Given the description of an element on the screen output the (x, y) to click on. 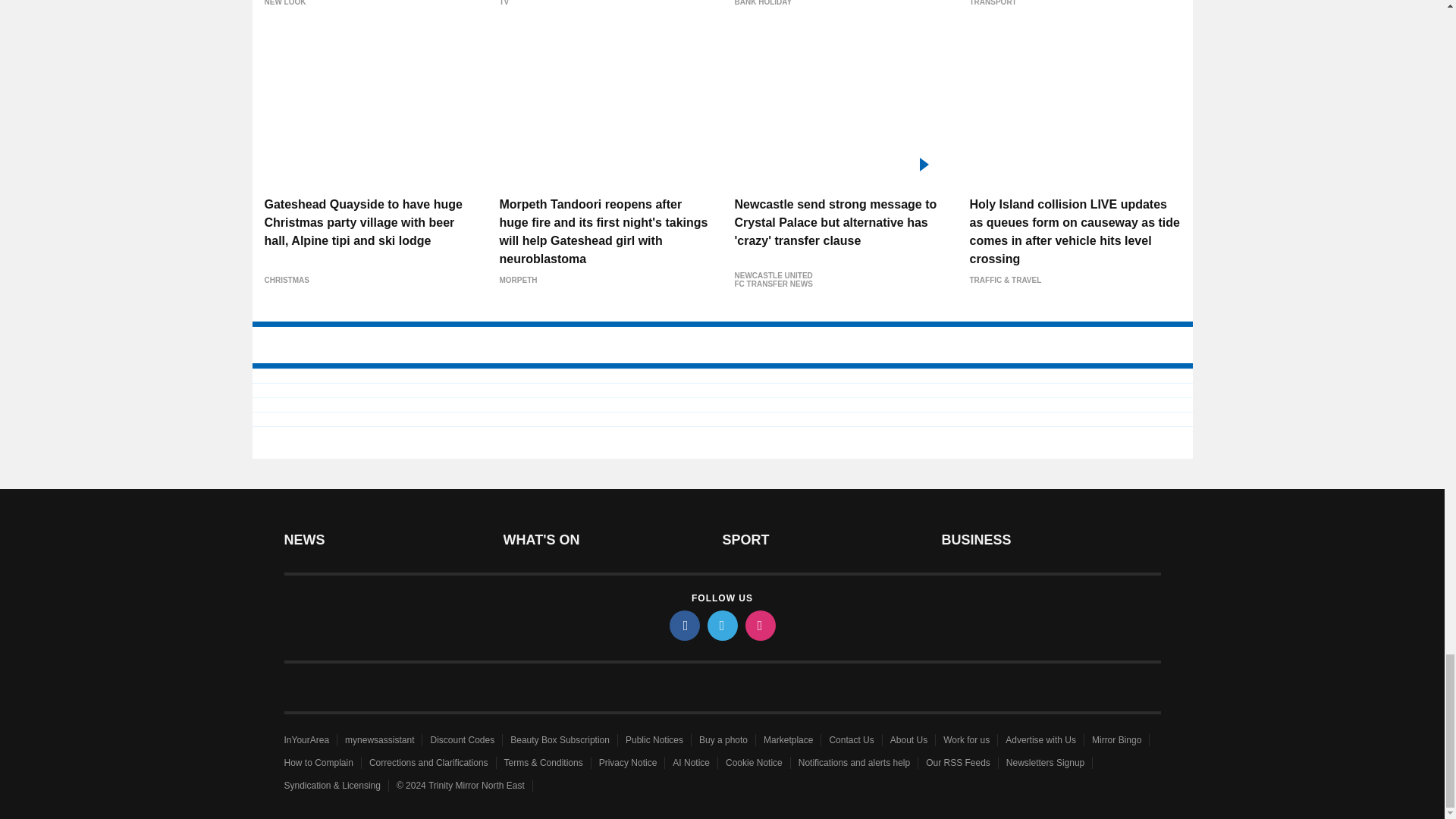
twitter (721, 625)
facebook (683, 625)
instagram (759, 625)
